Given the description of an element on the screen output the (x, y) to click on. 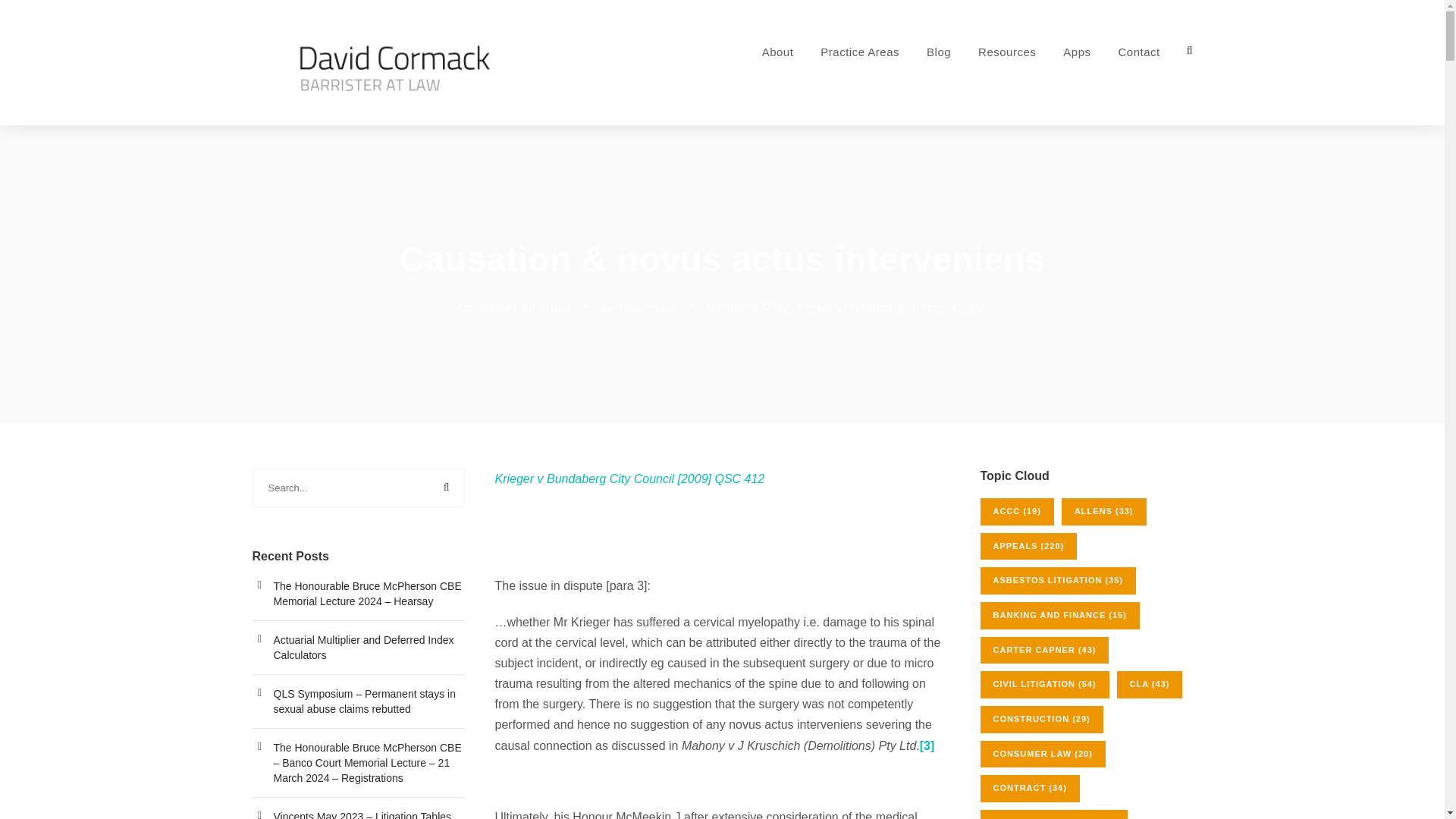
Posts by davidcormack (638, 306)
Members Only (746, 306)
logo (395, 64)
davidcormack (638, 306)
Resources (1006, 73)
December 18, 2009 (515, 306)
Personal Injuries Workers' Comp (890, 306)
Practice Areas (860, 73)
